Given the description of an element on the screen output the (x, y) to click on. 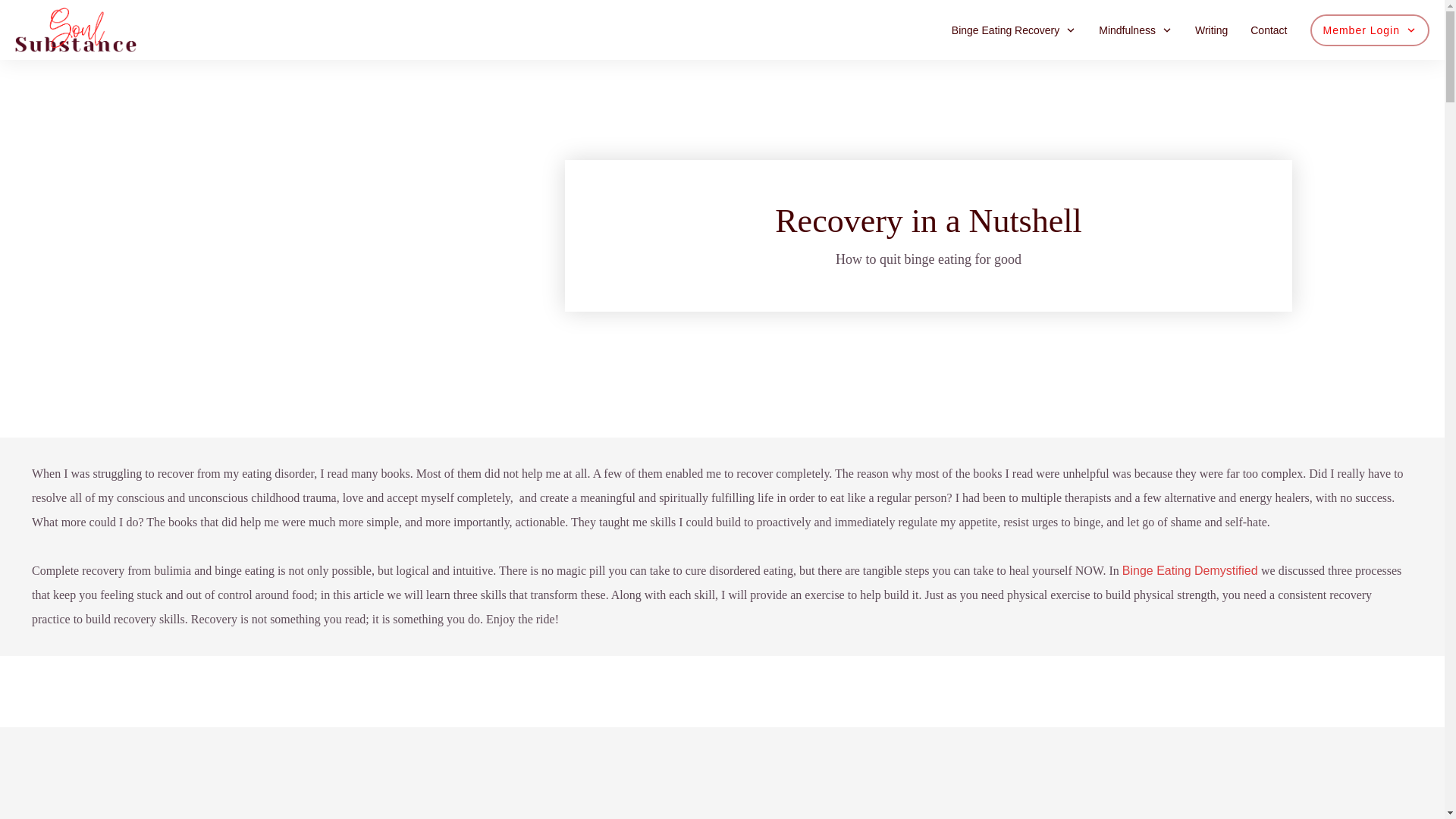
Binge Eating Recovery (1013, 29)
Member Login (1369, 29)
Binge Eating Demystified (1191, 570)
Writing (1211, 29)
Mindfulness (1135, 29)
Contact (1268, 29)
